Given the description of an element on the screen output the (x, y) to click on. 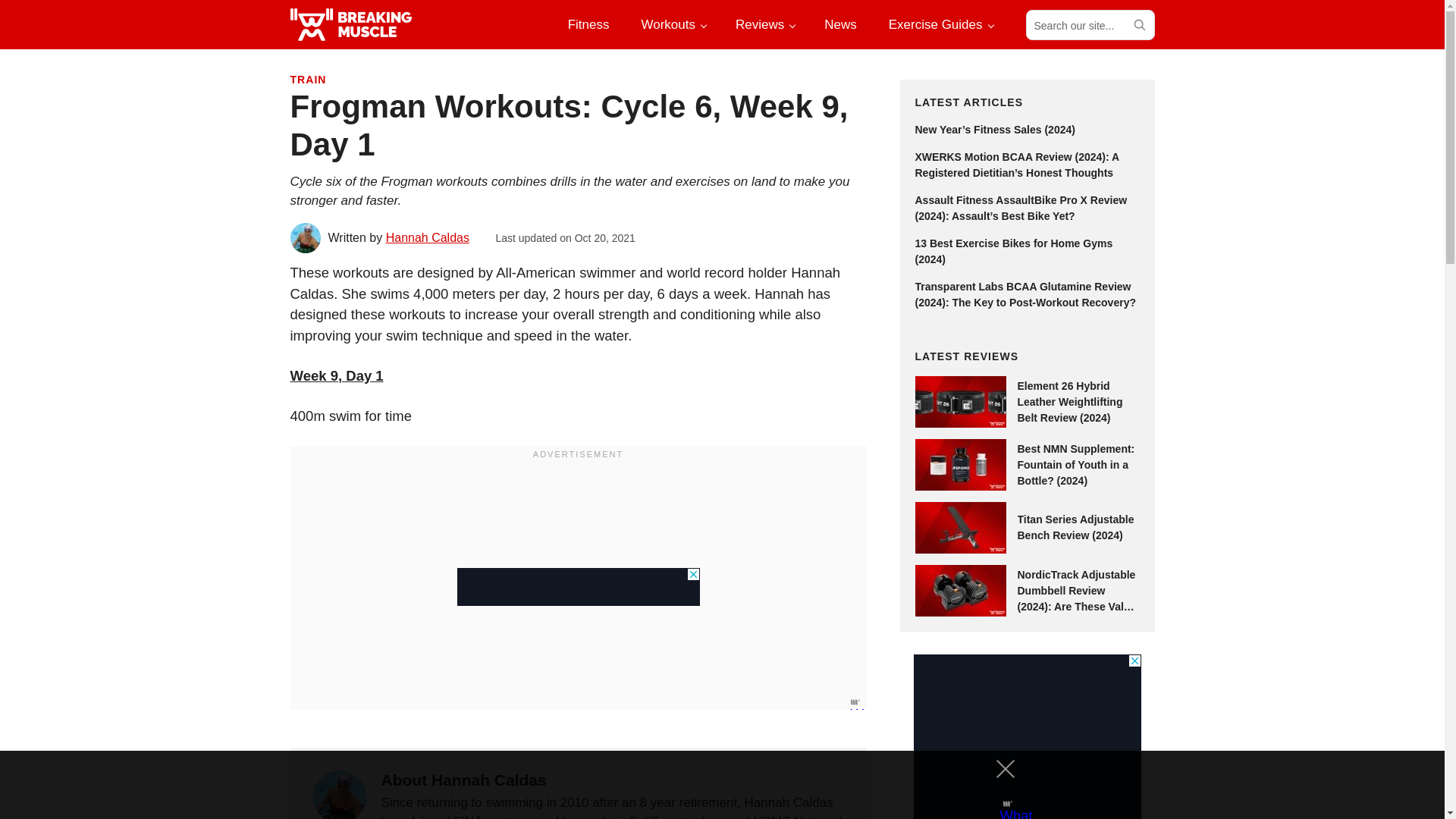
Workouts (672, 24)
Reviews (764, 24)
3rd party ad content (577, 587)
Submit search (1138, 24)
3rd party ad content (1026, 736)
Fitness (588, 24)
3rd party ad content (708, 785)
Submit search (1138, 24)
